Given the description of an element on the screen output the (x, y) to click on. 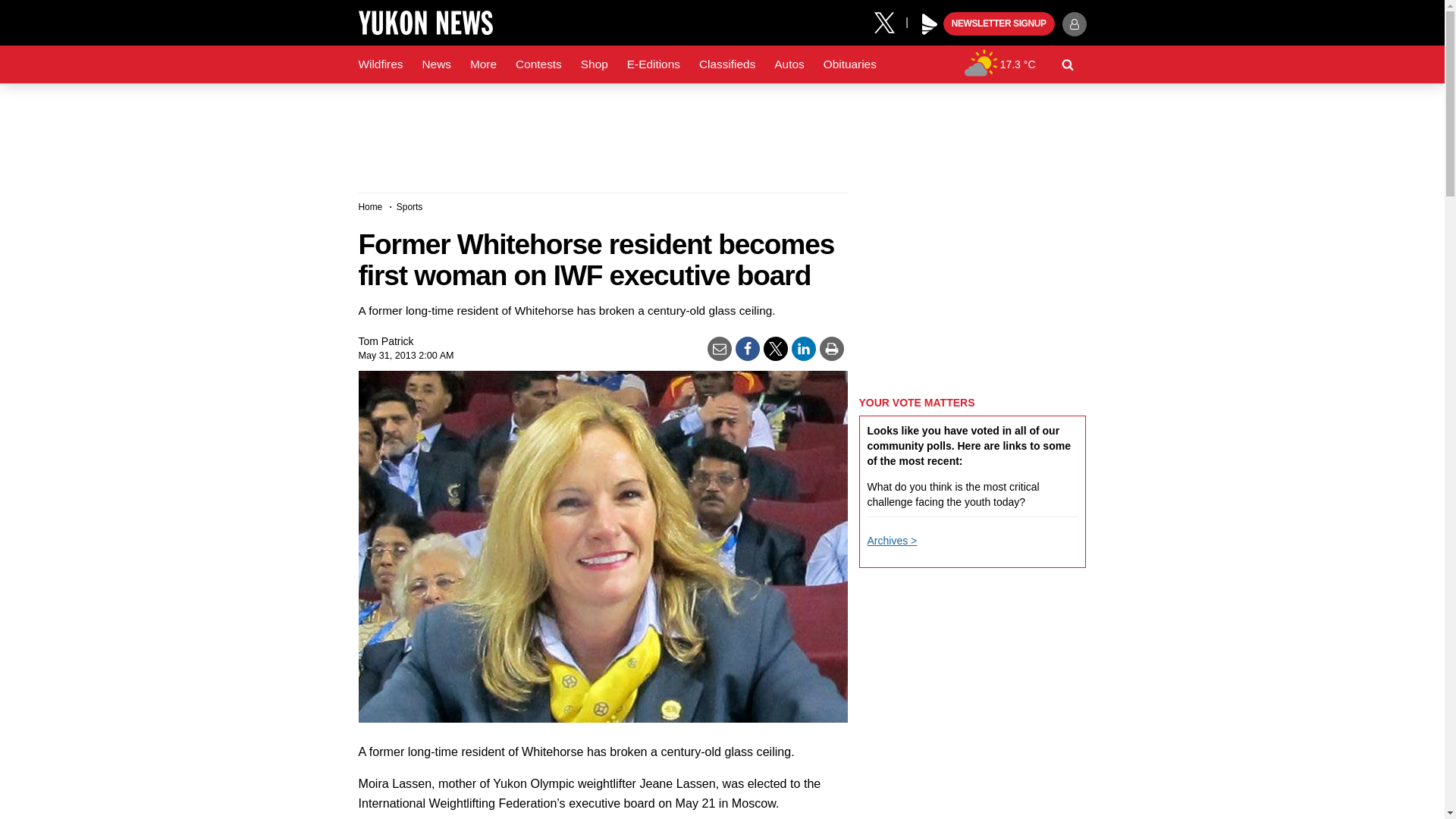
News (435, 64)
Wildfires (380, 64)
Play (929, 24)
NEWSLETTER SIGNUP (998, 24)
X (889, 21)
Black Press Media (929, 24)
